Given the description of an element on the screen output the (x, y) to click on. 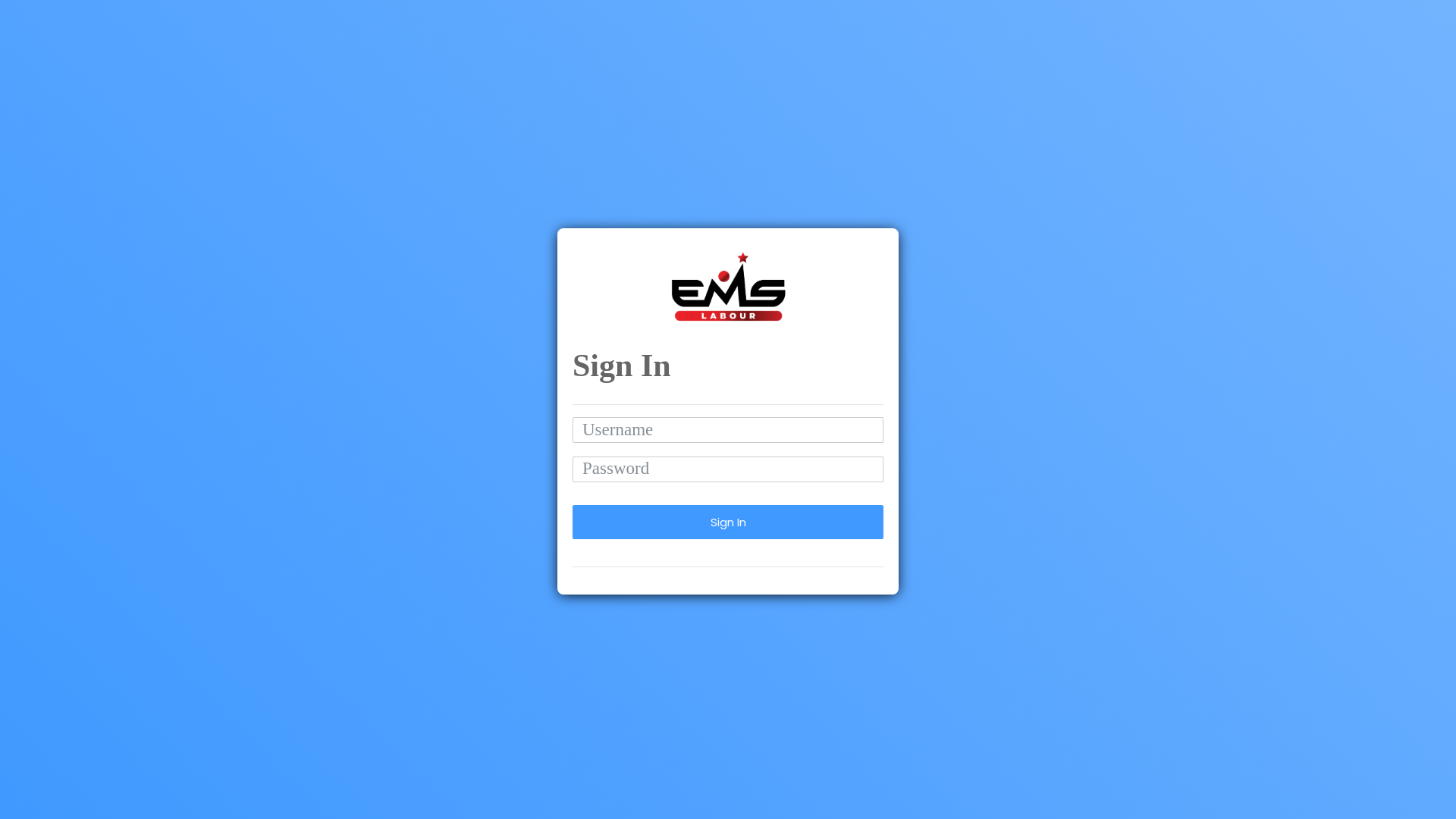
Sign In Element type: text (727, 522)
